Given the description of an element on the screen output the (x, y) to click on. 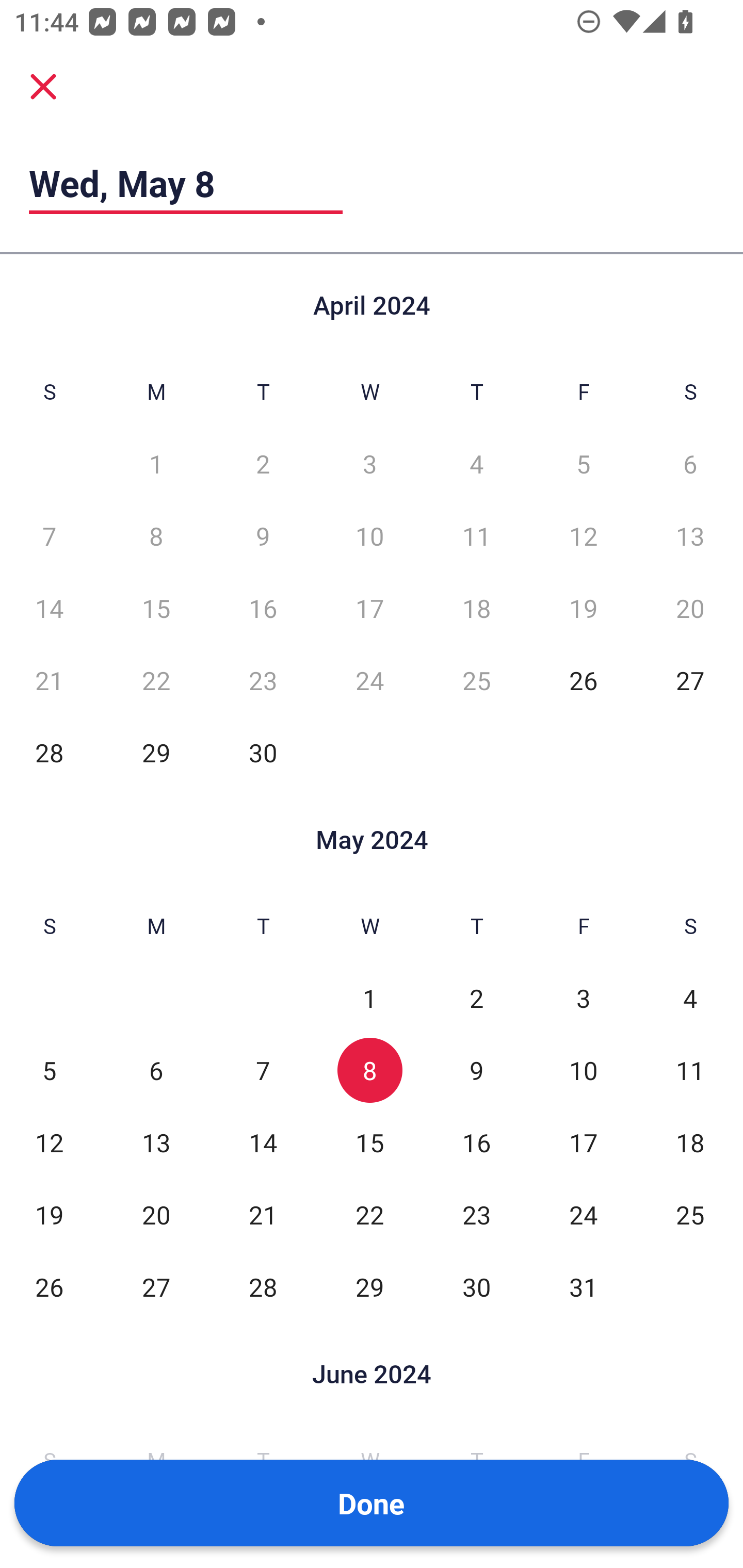
Cancel (43, 86)
Wed, May 8 (185, 182)
1 Mon, Apr 1, Not Selected (156, 464)
2 Tue, Apr 2, Not Selected (263, 464)
3 Wed, Apr 3, Not Selected (369, 464)
4 Thu, Apr 4, Not Selected (476, 464)
5 Fri, Apr 5, Not Selected (583, 464)
6 Sat, Apr 6, Not Selected (690, 464)
7 Sun, Apr 7, Not Selected (49, 536)
8 Mon, Apr 8, Not Selected (156, 536)
9 Tue, Apr 9, Not Selected (263, 536)
10 Wed, Apr 10, Not Selected (369, 536)
11 Thu, Apr 11, Not Selected (476, 536)
12 Fri, Apr 12, Not Selected (583, 536)
13 Sat, Apr 13, Not Selected (690, 536)
14 Sun, Apr 14, Not Selected (49, 608)
15 Mon, Apr 15, Not Selected (156, 608)
16 Tue, Apr 16, Not Selected (263, 608)
17 Wed, Apr 17, Not Selected (369, 608)
18 Thu, Apr 18, Not Selected (476, 608)
19 Fri, Apr 19, Not Selected (583, 608)
20 Sat, Apr 20, Not Selected (690, 608)
21 Sun, Apr 21, Not Selected (49, 680)
22 Mon, Apr 22, Not Selected (156, 680)
23 Tue, Apr 23, Not Selected (263, 680)
24 Wed, Apr 24, Not Selected (369, 680)
25 Thu, Apr 25, Not Selected (476, 680)
26 Fri, Apr 26, Not Selected (583, 680)
27 Sat, Apr 27, Not Selected (690, 680)
28 Sun, Apr 28, Not Selected (49, 752)
29 Mon, Apr 29, Not Selected (156, 752)
30 Tue, Apr 30, Not Selected (263, 752)
1 Wed, May 1, Not Selected (369, 997)
2 Thu, May 2, Not Selected (476, 997)
3 Fri, May 3, Not Selected (583, 997)
4 Sat, May 4, Not Selected (690, 997)
5 Sun, May 5, Not Selected (49, 1070)
6 Mon, May 6, Not Selected (156, 1070)
7 Tue, May 7, Not Selected (263, 1070)
8 Wed, May 8, Selected (369, 1070)
9 Thu, May 9, Not Selected (476, 1070)
10 Fri, May 10, Not Selected (583, 1070)
11 Sat, May 11, Not Selected (690, 1070)
12 Sun, May 12, Not Selected (49, 1143)
13 Mon, May 13, Not Selected (156, 1143)
14 Tue, May 14, Not Selected (263, 1143)
15 Wed, May 15, Not Selected (369, 1143)
16 Thu, May 16, Not Selected (476, 1143)
17 Fri, May 17, Not Selected (583, 1143)
18 Sat, May 18, Not Selected (690, 1143)
